Given the description of an element on the screen output the (x, y) to click on. 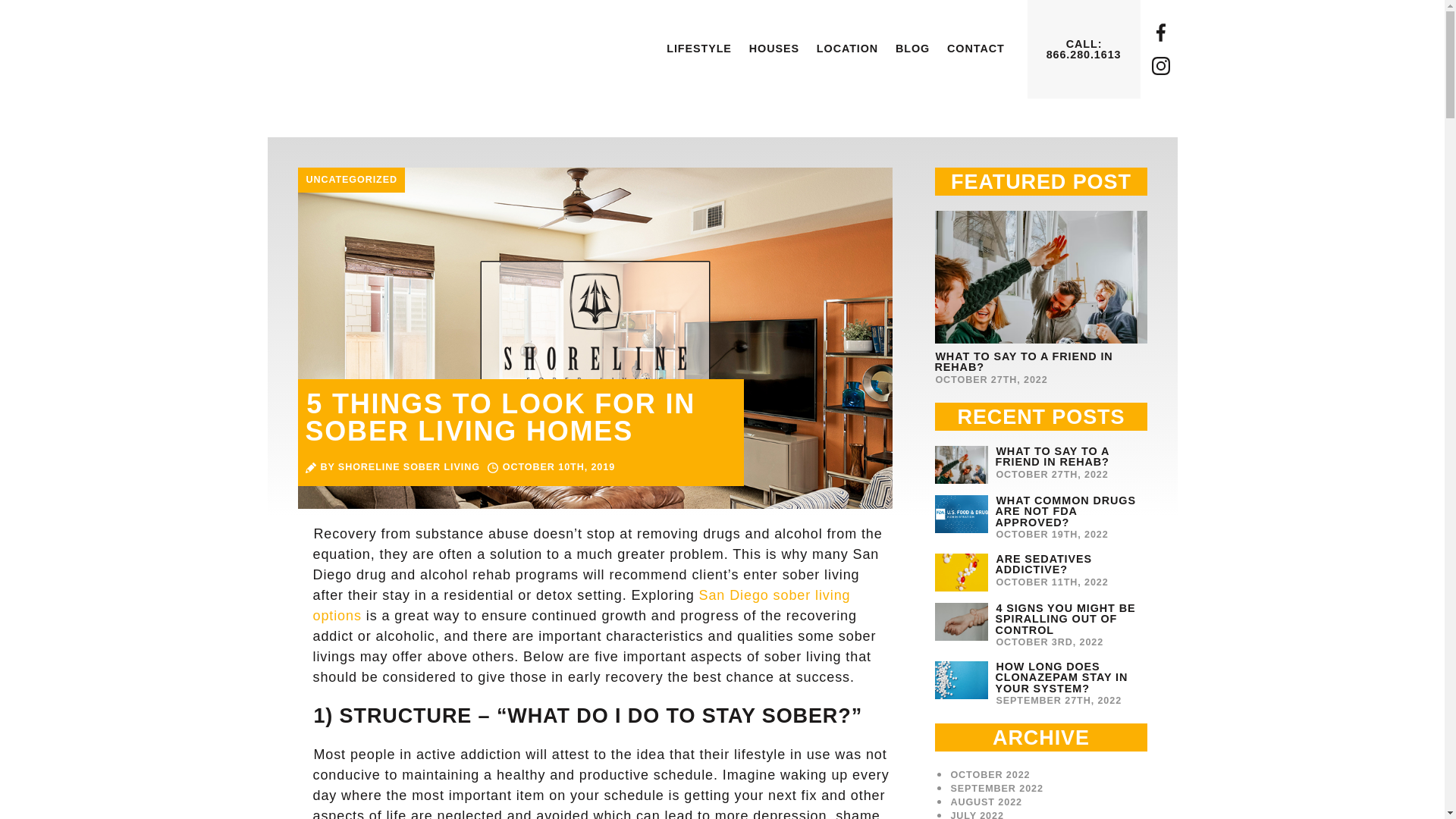
LIFESTYLE (1040, 464)
Shoreline Sober Living on Facebook (698, 49)
San Diego sober living options (1160, 32)
HOUSES (581, 605)
OCTOBER 2022 (773, 49)
BLOG (989, 774)
AUGUST 2022 (1040, 298)
Shoreline Sober Living on Instagram (912, 49)
JULY 2022 (986, 801)
SEPTEMBER 2022 (1160, 65)
Head to the home page (976, 814)
UNCATEGORIZED (996, 787)
